Given the description of an element on the screen output the (x, y) to click on. 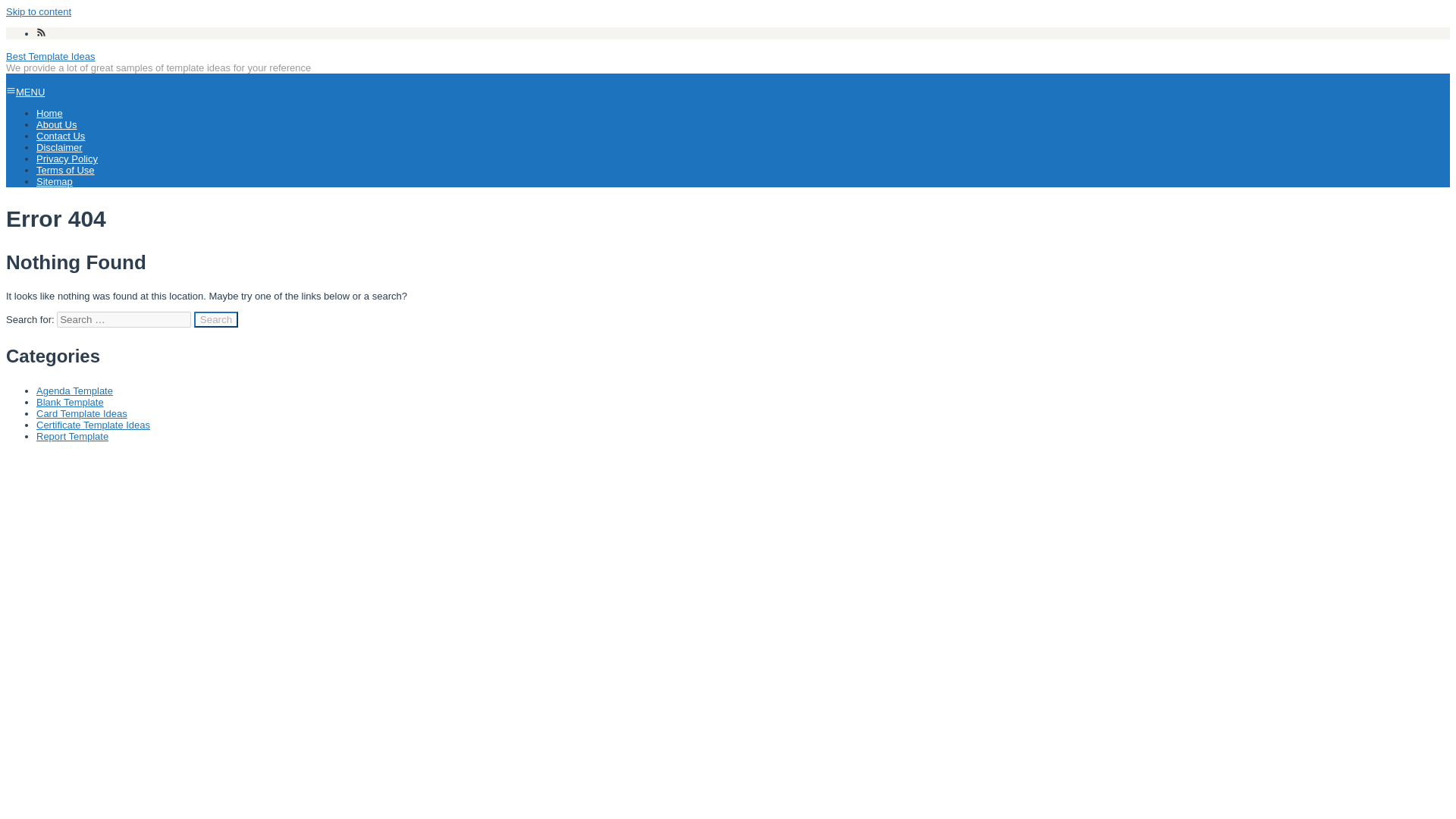
MENU (25, 91)
Terms of Use (65, 170)
Search (215, 319)
Certificate Template Ideas (92, 424)
Card Template Ideas (82, 413)
Privacy Policy (66, 158)
About Us (56, 124)
Blank Template (69, 401)
Best Template Ideas (50, 56)
Search (215, 319)
